Given the description of an element on the screen output the (x, y) to click on. 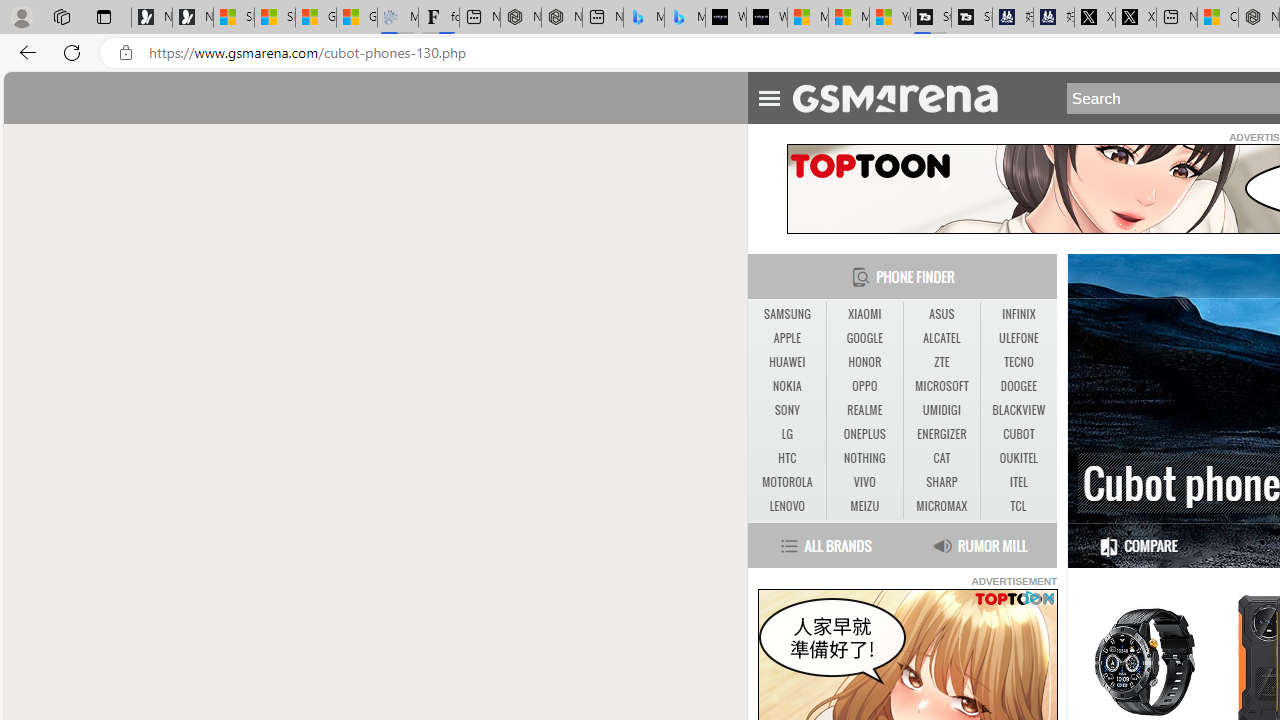
SAMSUNG (786, 314)
BLACKVIEW (1018, 410)
NOKIA (786, 385)
CAT (941, 457)
SONY (786, 410)
INFINIX (1018, 313)
ASUS (941, 313)
OPPO (863, 385)
ULEFONE (1018, 339)
MICROMAX (941, 506)
TCL (1018, 506)
GOOGLE (863, 338)
